Given the description of an element on the screen output the (x, y) to click on. 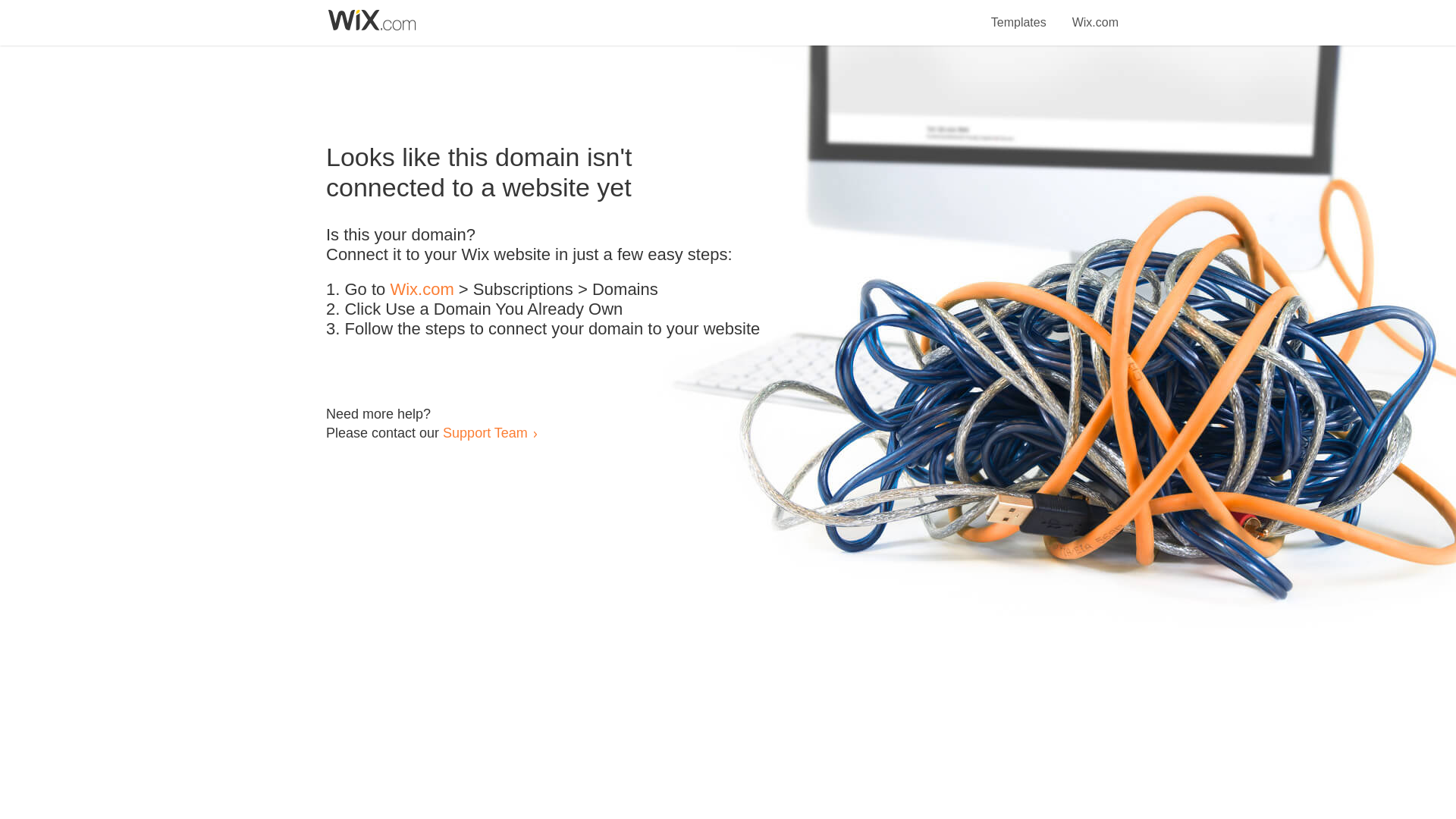
Support Team (484, 432)
Templates (1018, 14)
Wix.com (421, 289)
Wix.com (1095, 14)
